Given the description of an element on the screen output the (x, y) to click on. 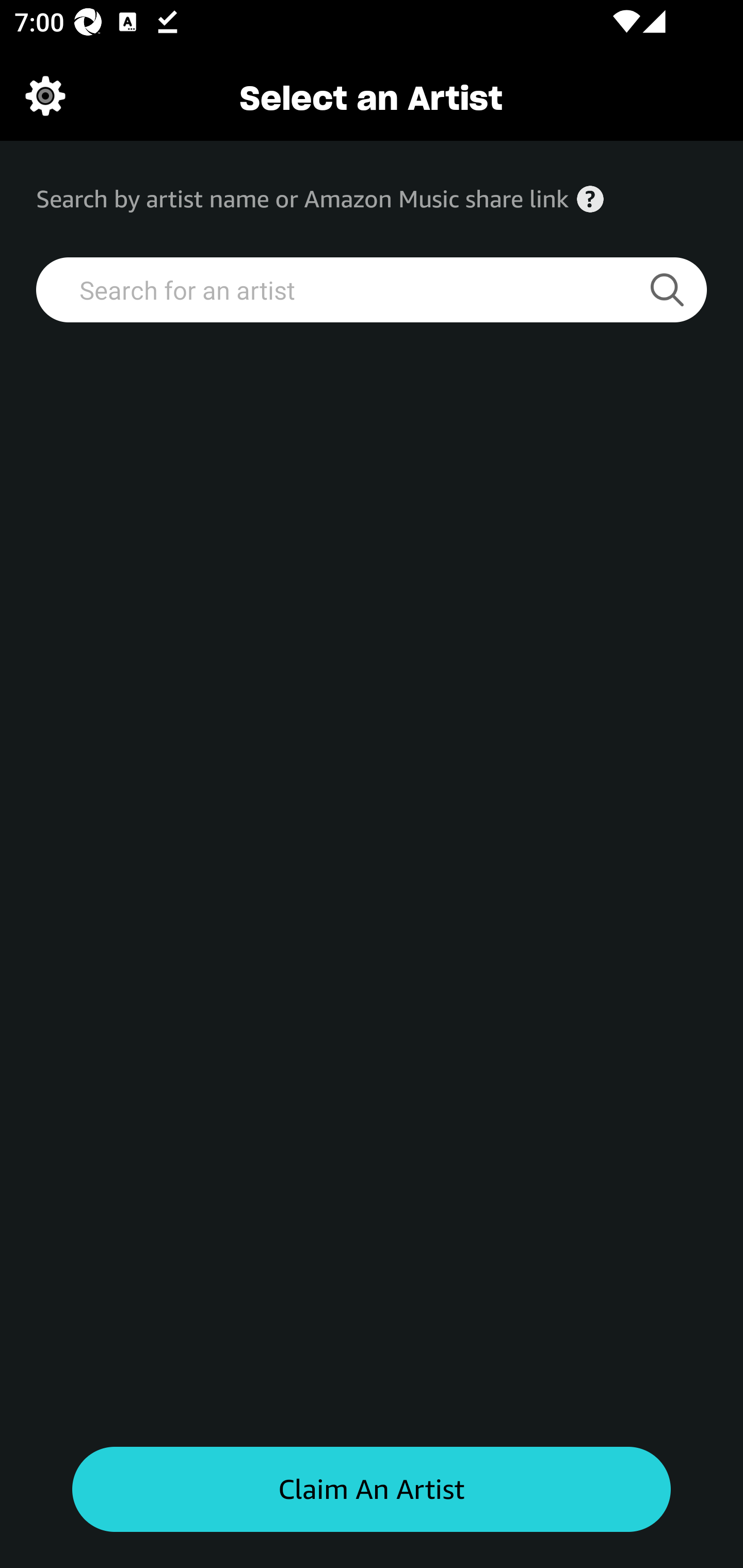
Help  icon (589, 199)
Claim an artist button Claim An Artist (371, 1489)
